Given the description of an element on the screen output the (x, y) to click on. 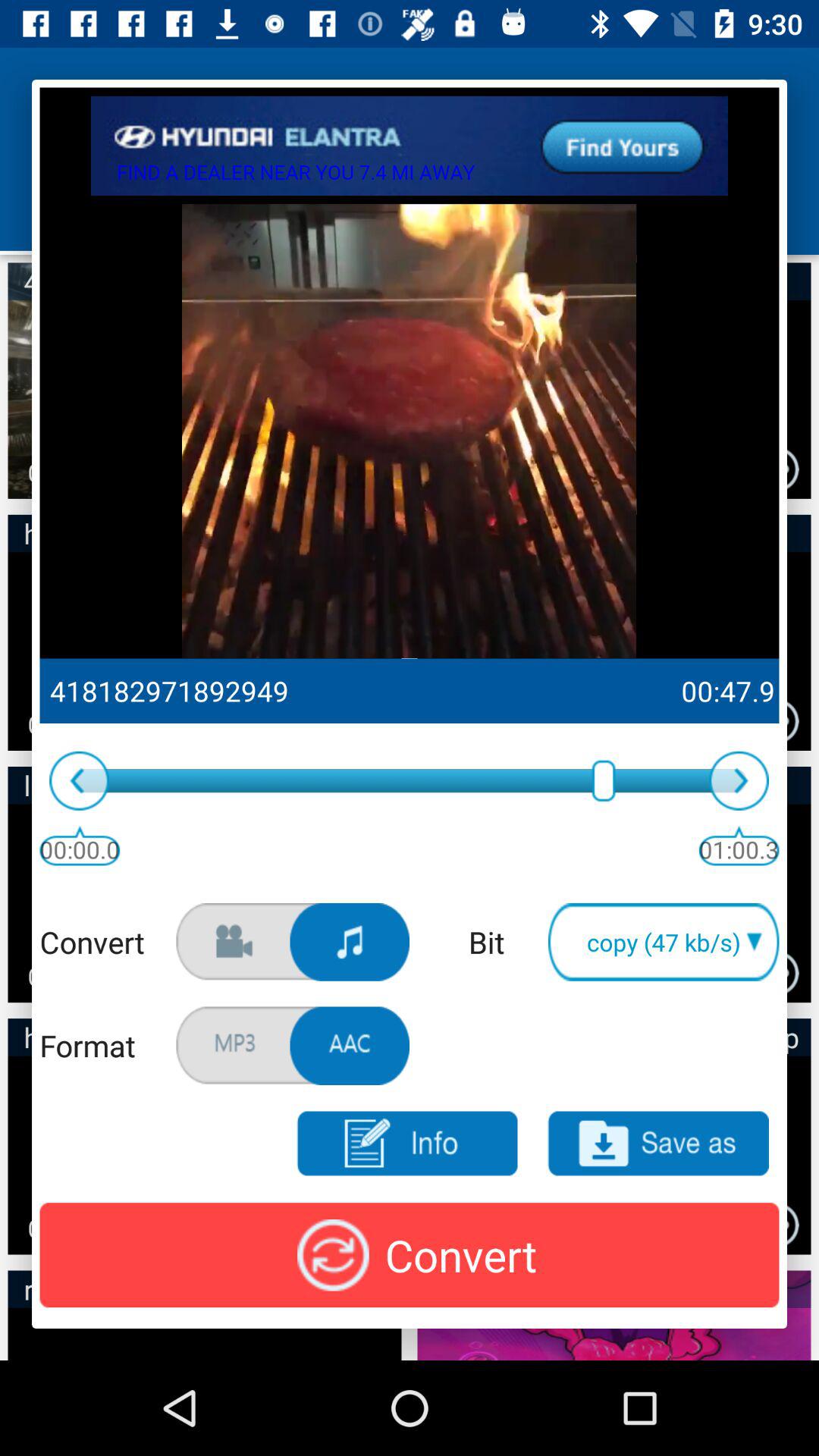
click music option (349, 942)
